Given the description of an element on the screen output the (x, y) to click on. 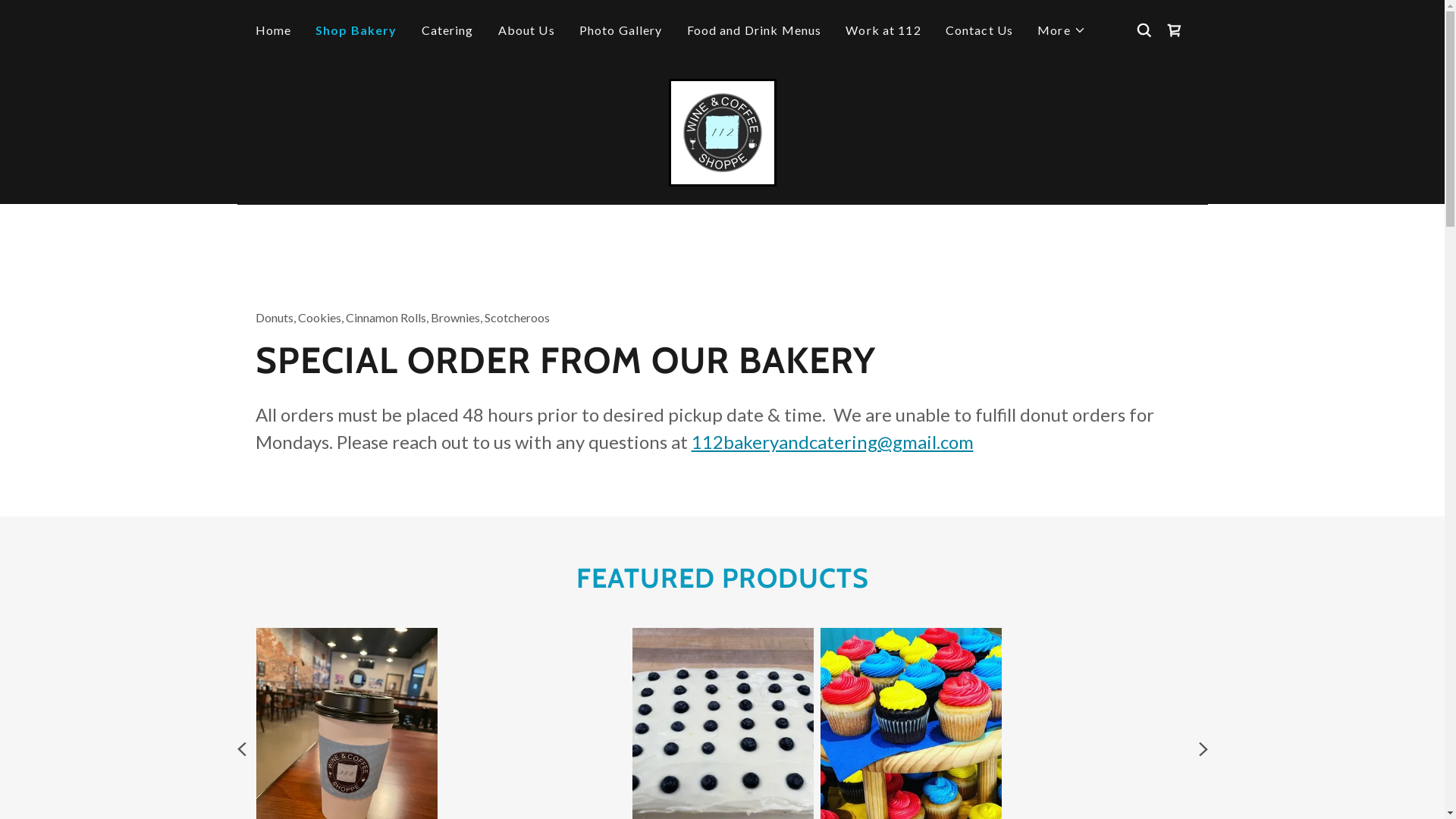
Photo Gallery Element type: text (620, 29)
Home Element type: text (272, 29)
Work at 112 Element type: text (882, 29)
More Element type: text (1061, 30)
About Us Element type: text (526, 29)
Shop Bakery Element type: text (356, 30)
Catering Element type: text (447, 29)
Contact Us Element type: text (979, 29)
112bakeryandcatering@gmail.com Element type: text (832, 441)
Food and Drink Menus Element type: text (754, 29)
112 Wine and Coffee Shoppe  Element type: hover (721, 130)
